Given the description of an element on the screen output the (x, y) to click on. 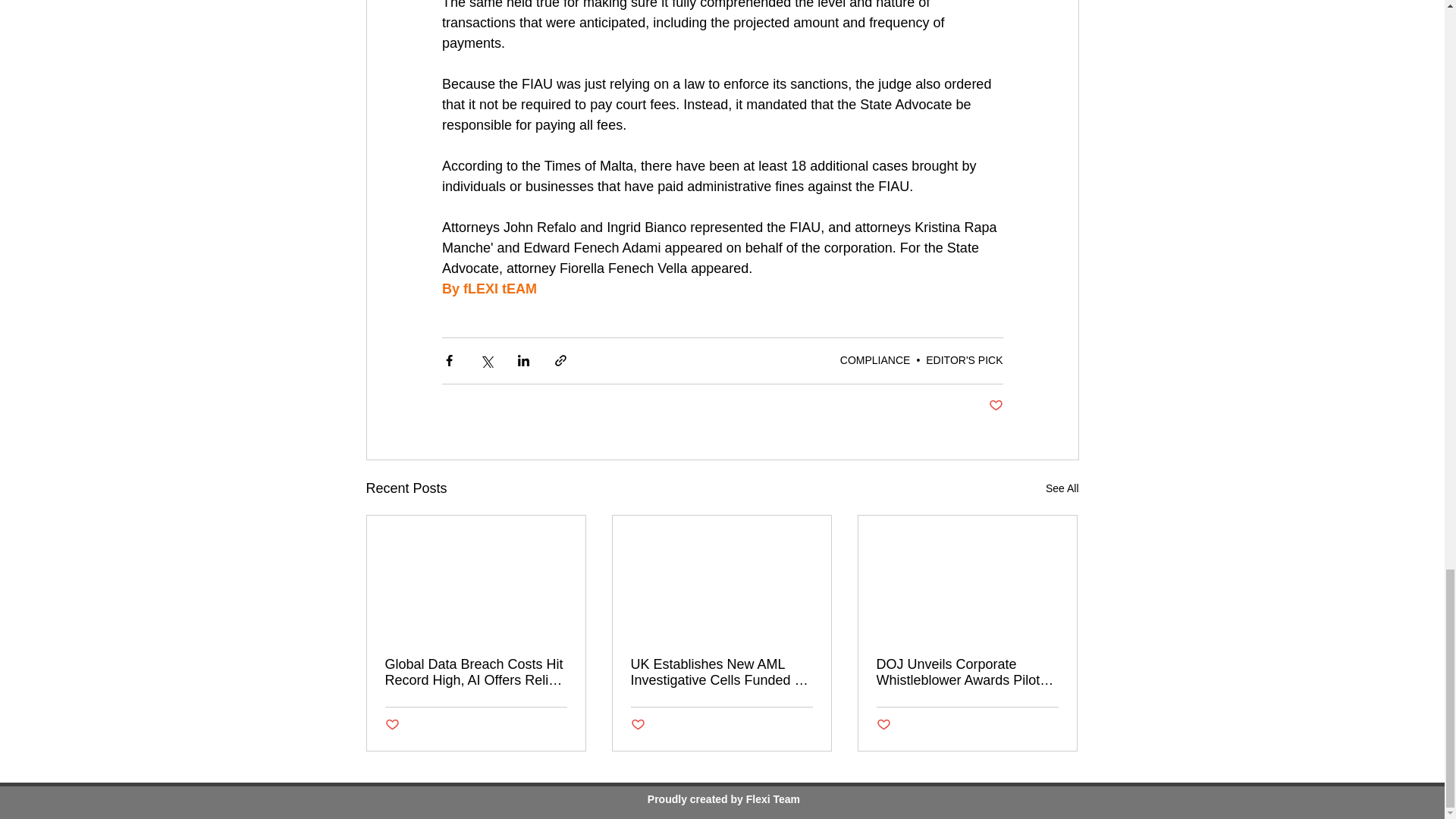
Post not marked as liked (883, 725)
Post not marked as liked (391, 725)
Post not marked as liked (637, 725)
EDITOR'S PICK (964, 359)
See All (1061, 488)
COMPLIANCE (875, 359)
Post not marked as liked (995, 406)
